Given the description of an element on the screen output the (x, y) to click on. 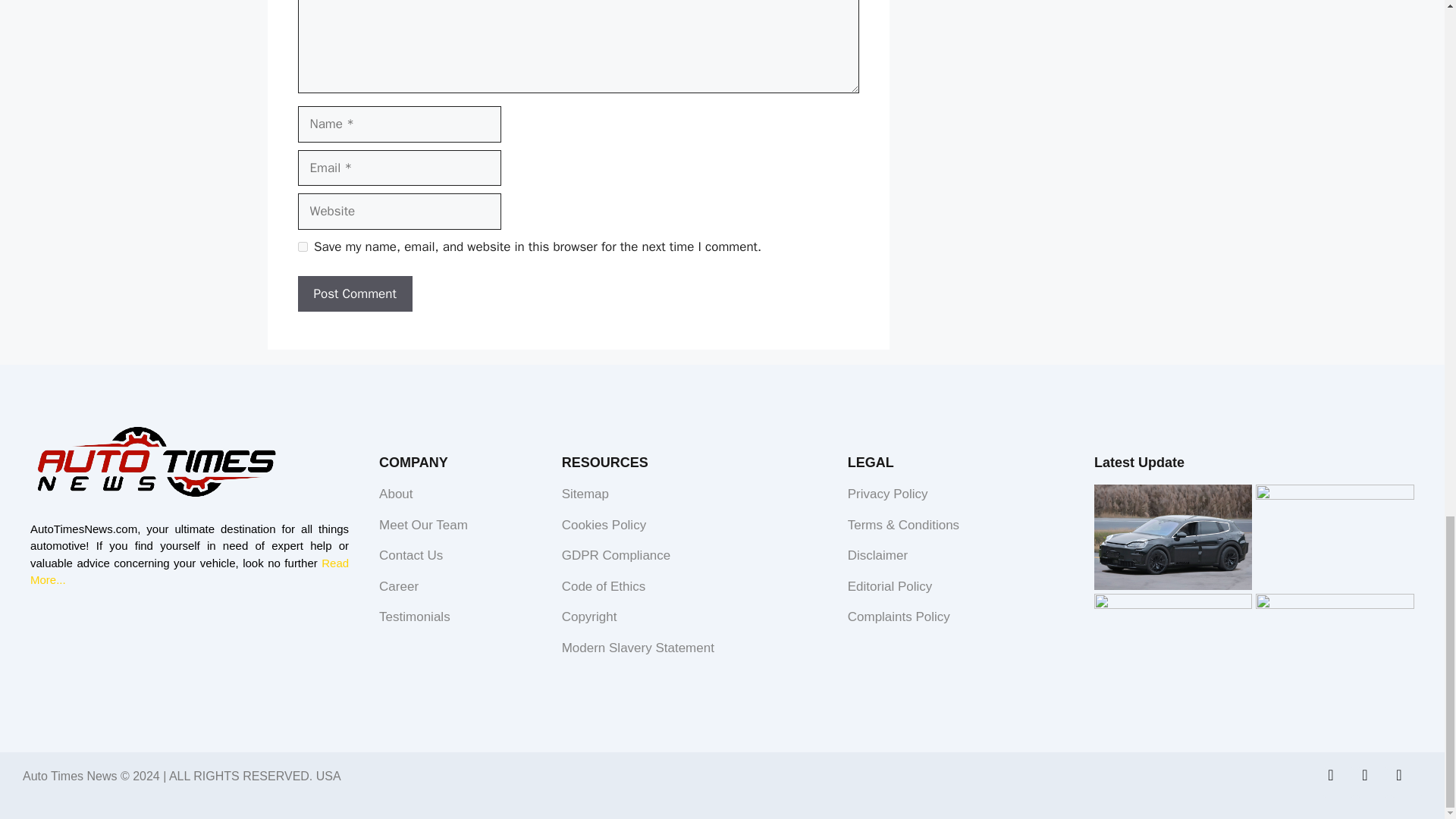
yes (302, 246)
Post Comment (354, 294)
